Given the description of an element on the screen output the (x, y) to click on. 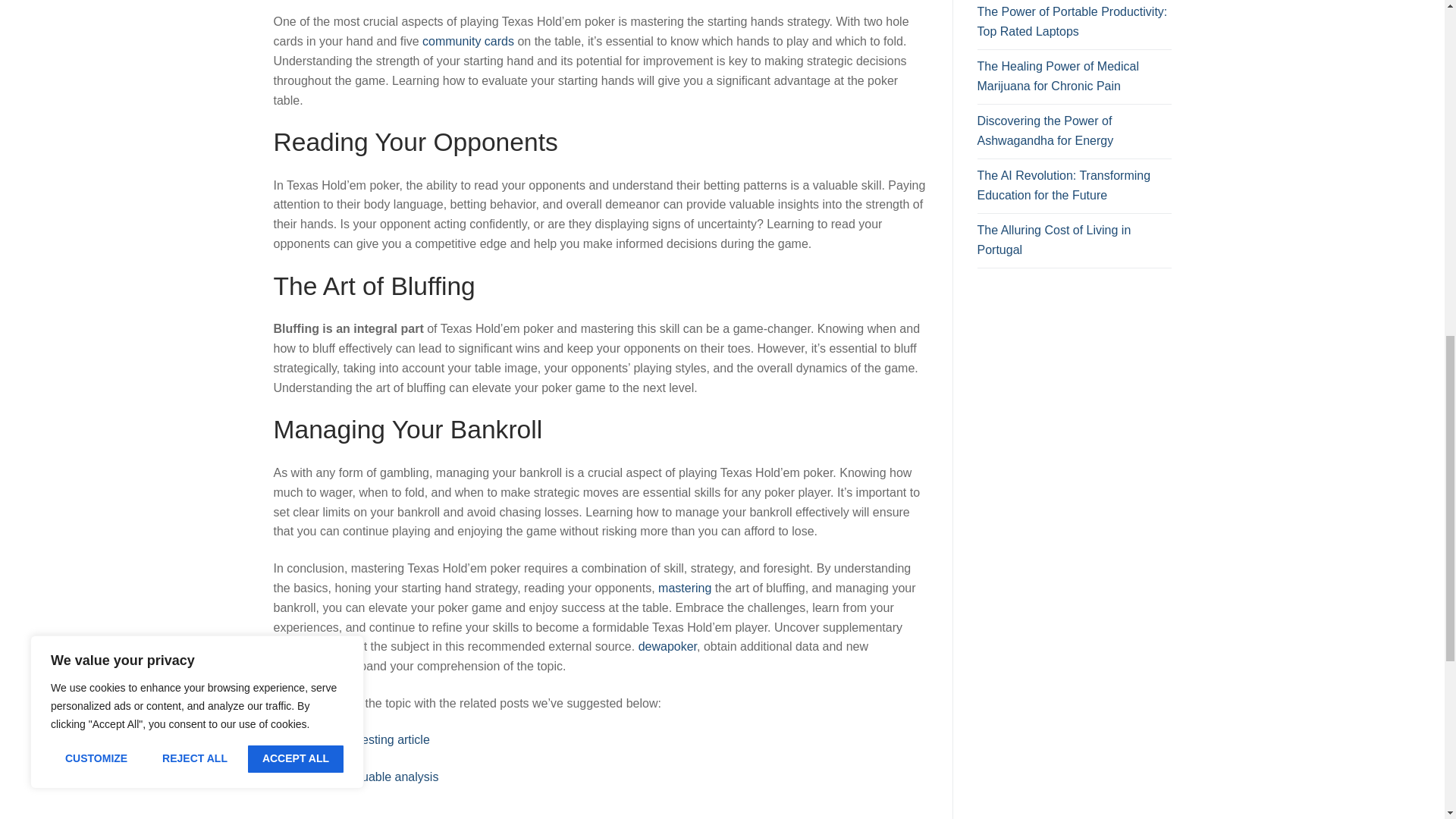
community cards (467, 41)
dewapoker (668, 645)
mastering (684, 587)
Access this interesting article (351, 739)
Discover this valuable analysis (355, 776)
